Given the description of an element on the screen output the (x, y) to click on. 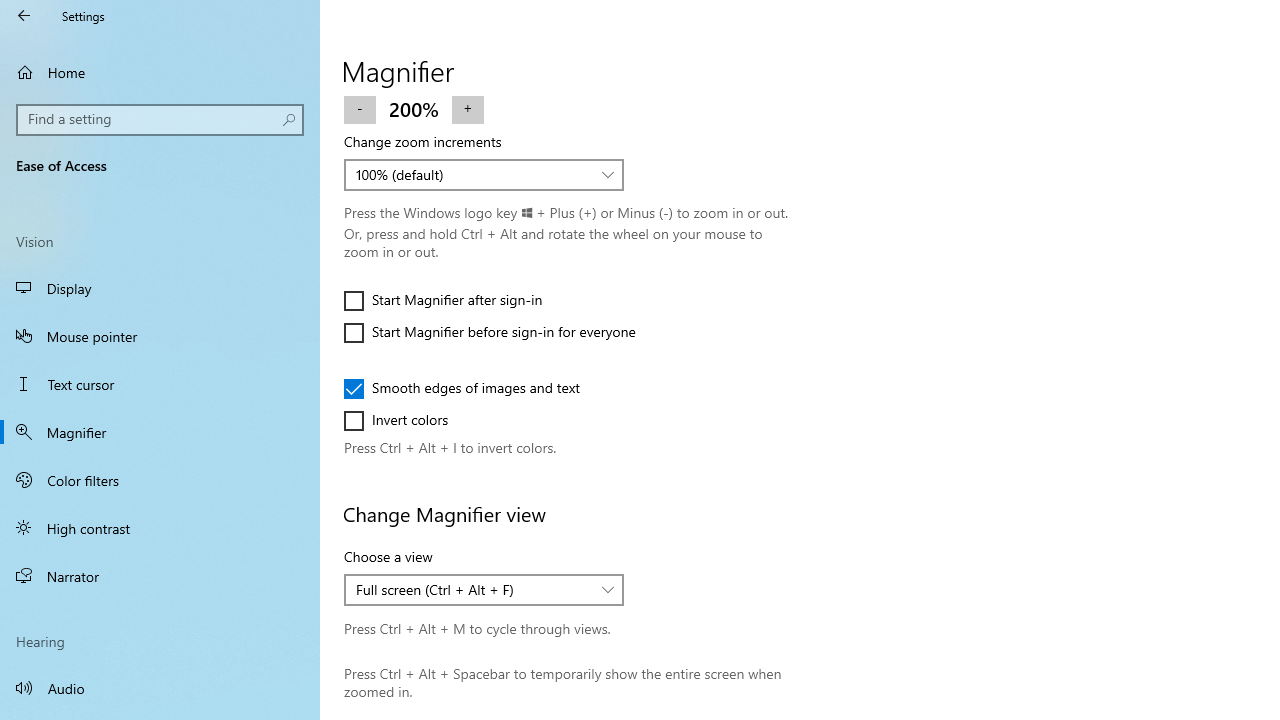
Start Magnifier after sign-in (443, 300)
Invert colors (403, 420)
100% (default) (473, 174)
Choose a view (484, 589)
Smooth edges of images and text (462, 388)
Make everything on my computer bigger (470, 23)
Start Magnifier before sign-in for everyone (490, 332)
